Given the description of an element on the screen output the (x, y) to click on. 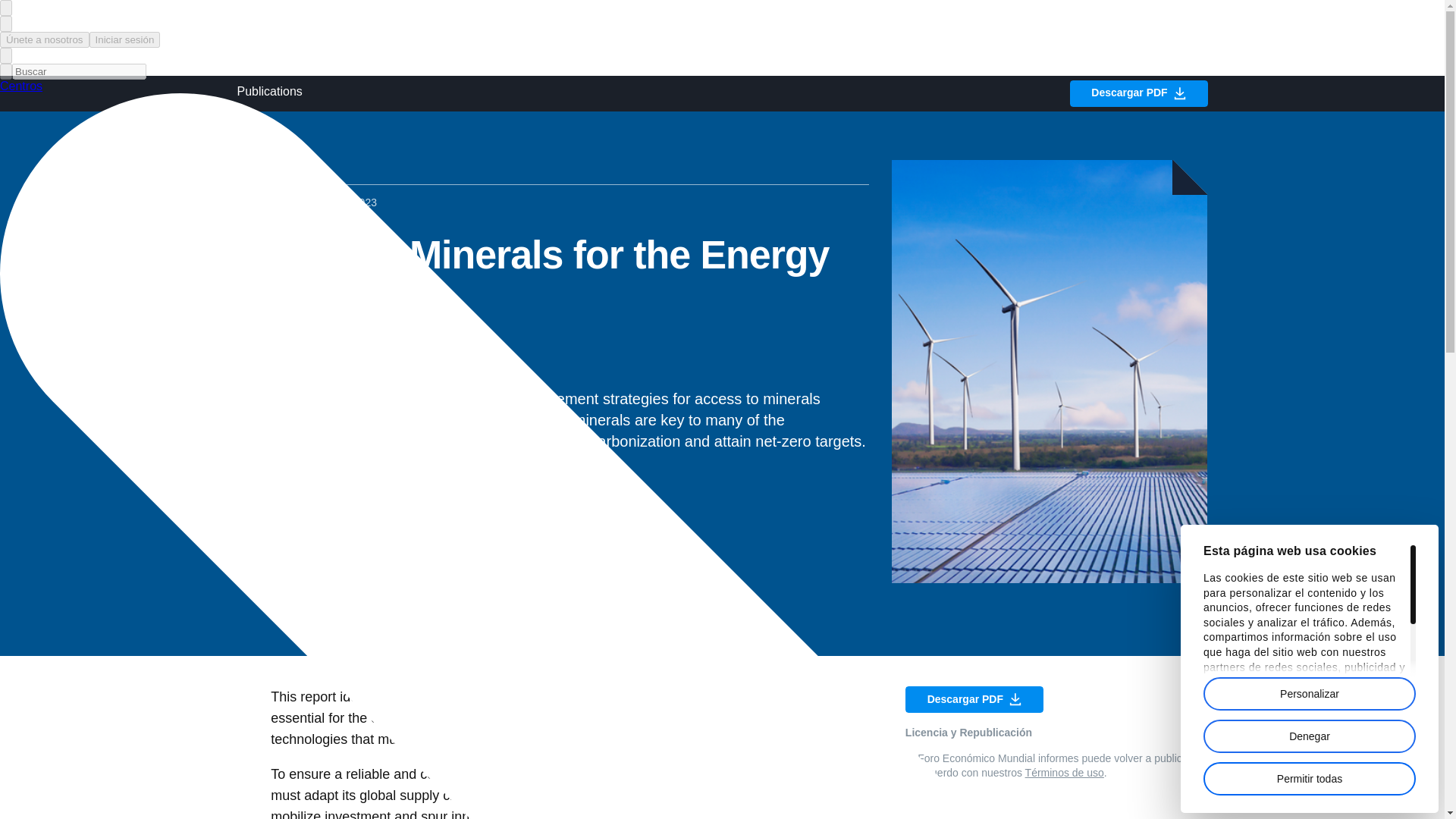
Publications (269, 93)
